Given the description of an element on the screen output the (x, y) to click on. 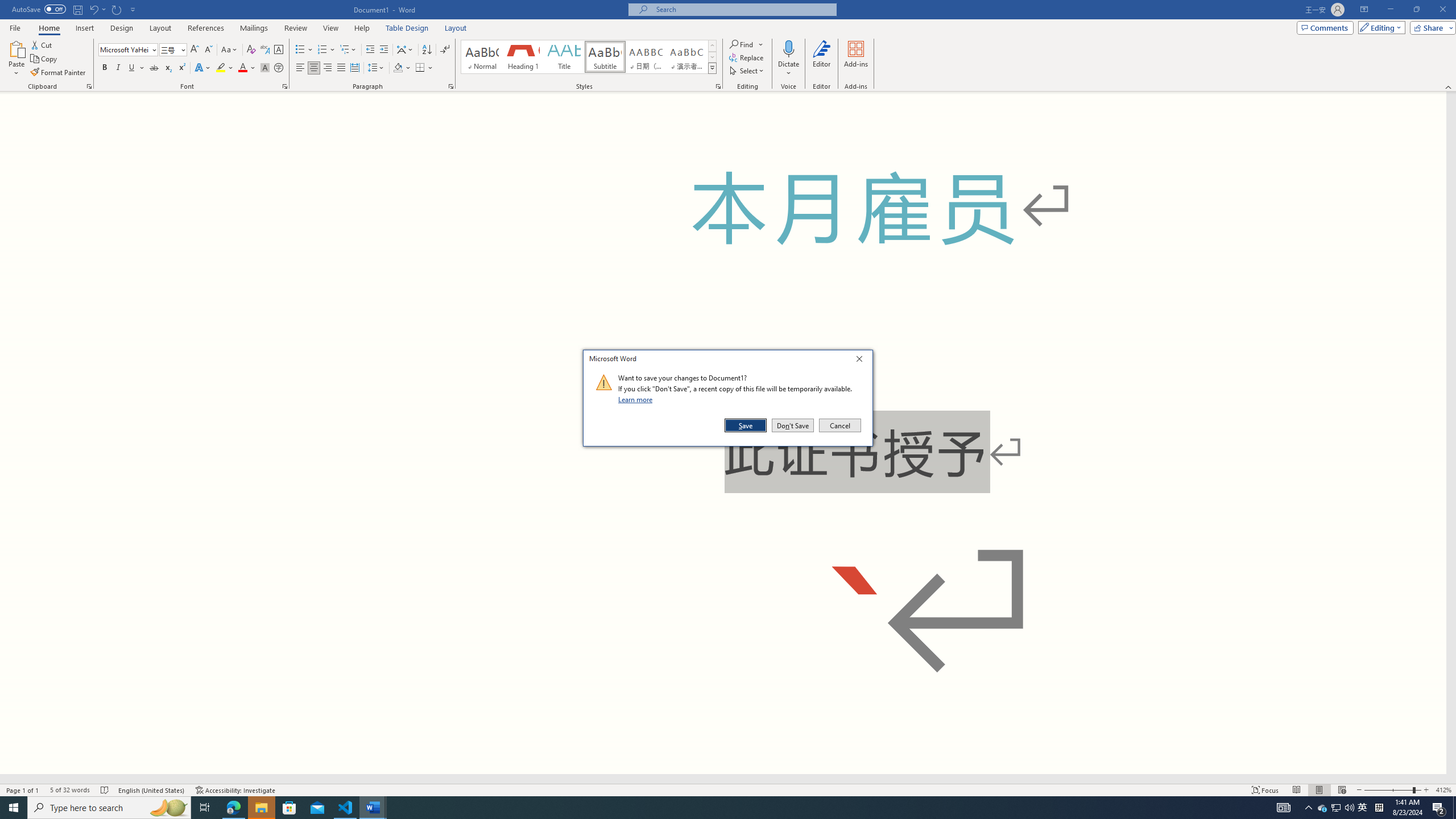
Multilevel List (347, 49)
Spelling and Grammar Check No Errors (105, 790)
Undo Superscript (92, 9)
User Promoted Notification Area (1336, 807)
Subtitle (1335, 807)
Repeat Superscript (605, 56)
Paragraph... (117, 9)
Table Design (450, 85)
